Given the description of an element on the screen output the (x, y) to click on. 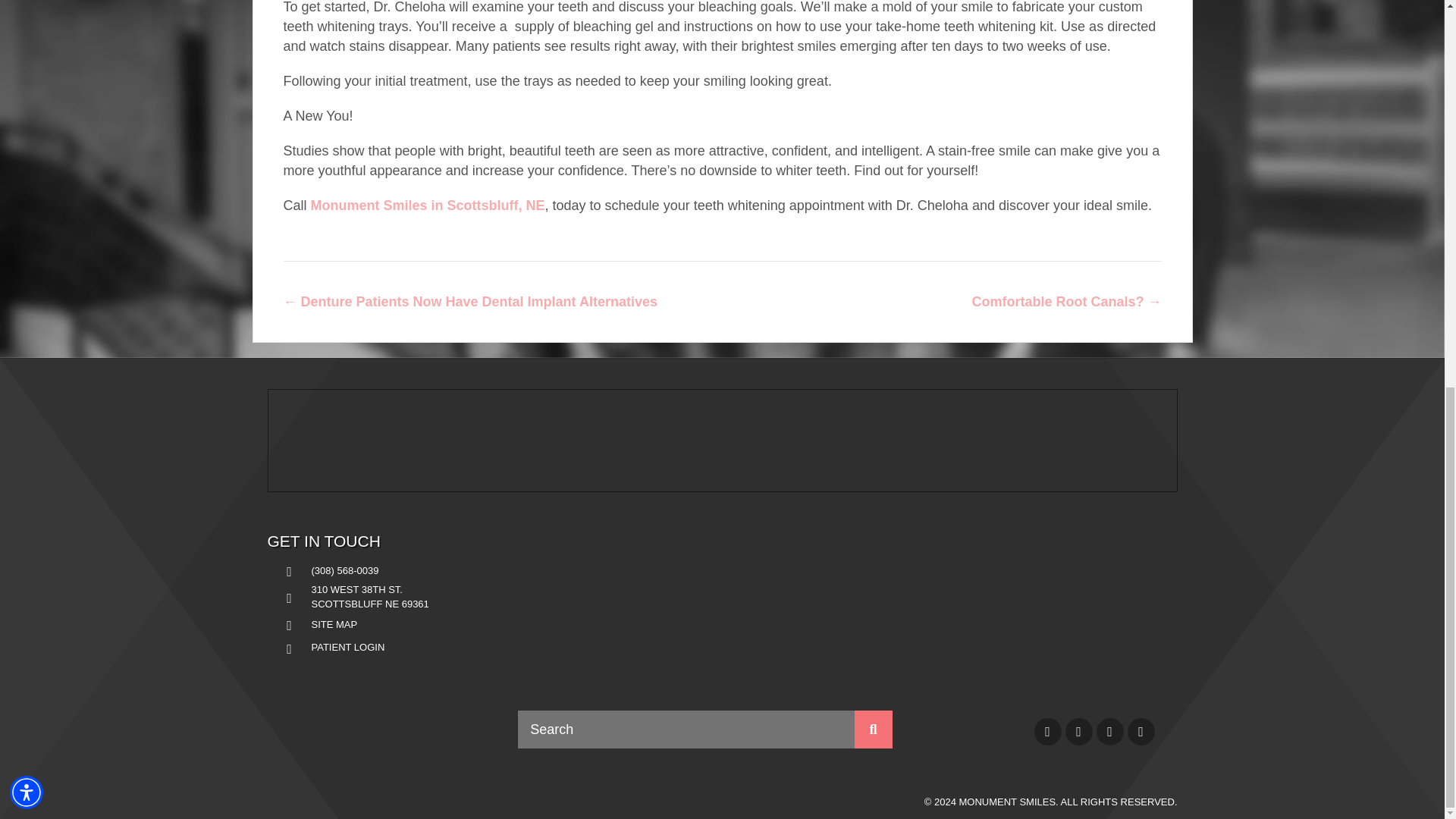
Accessibility Menu (26, 59)
